Given the description of an element on the screen output the (x, y) to click on. 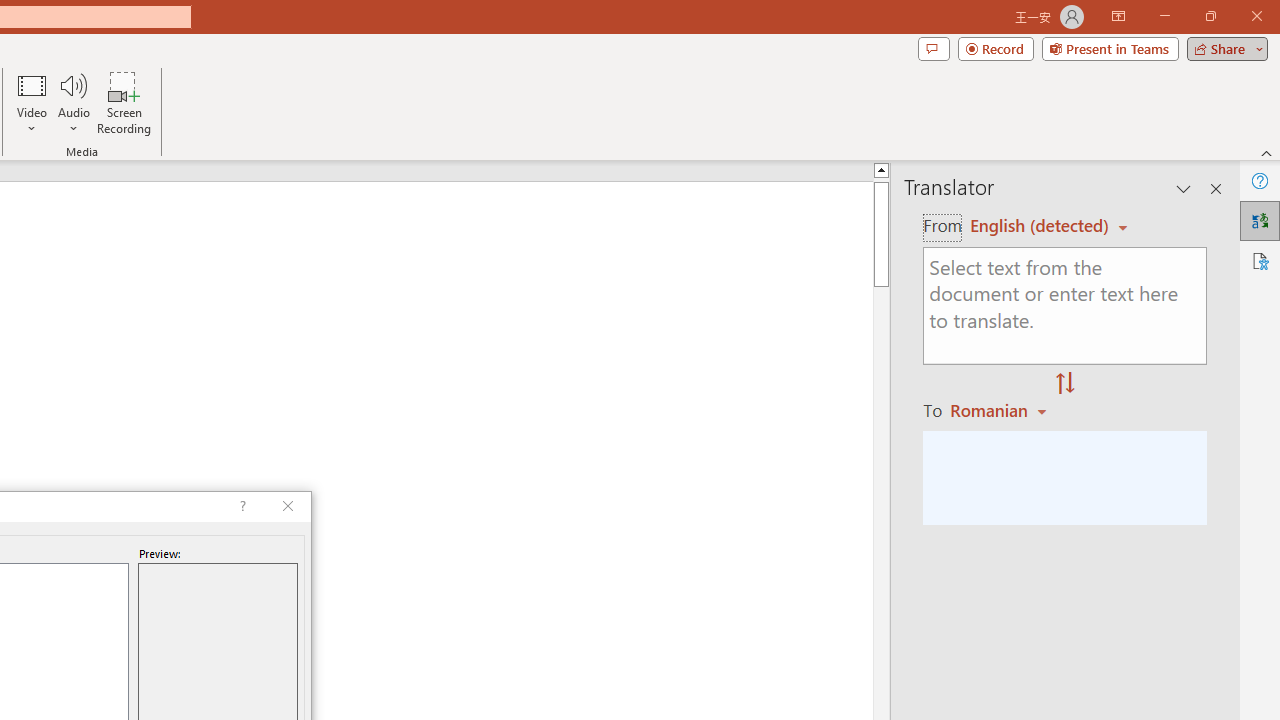
Screen Recording... (123, 102)
Romanian (1001, 409)
